Given the description of an element on the screen output the (x, y) to click on. 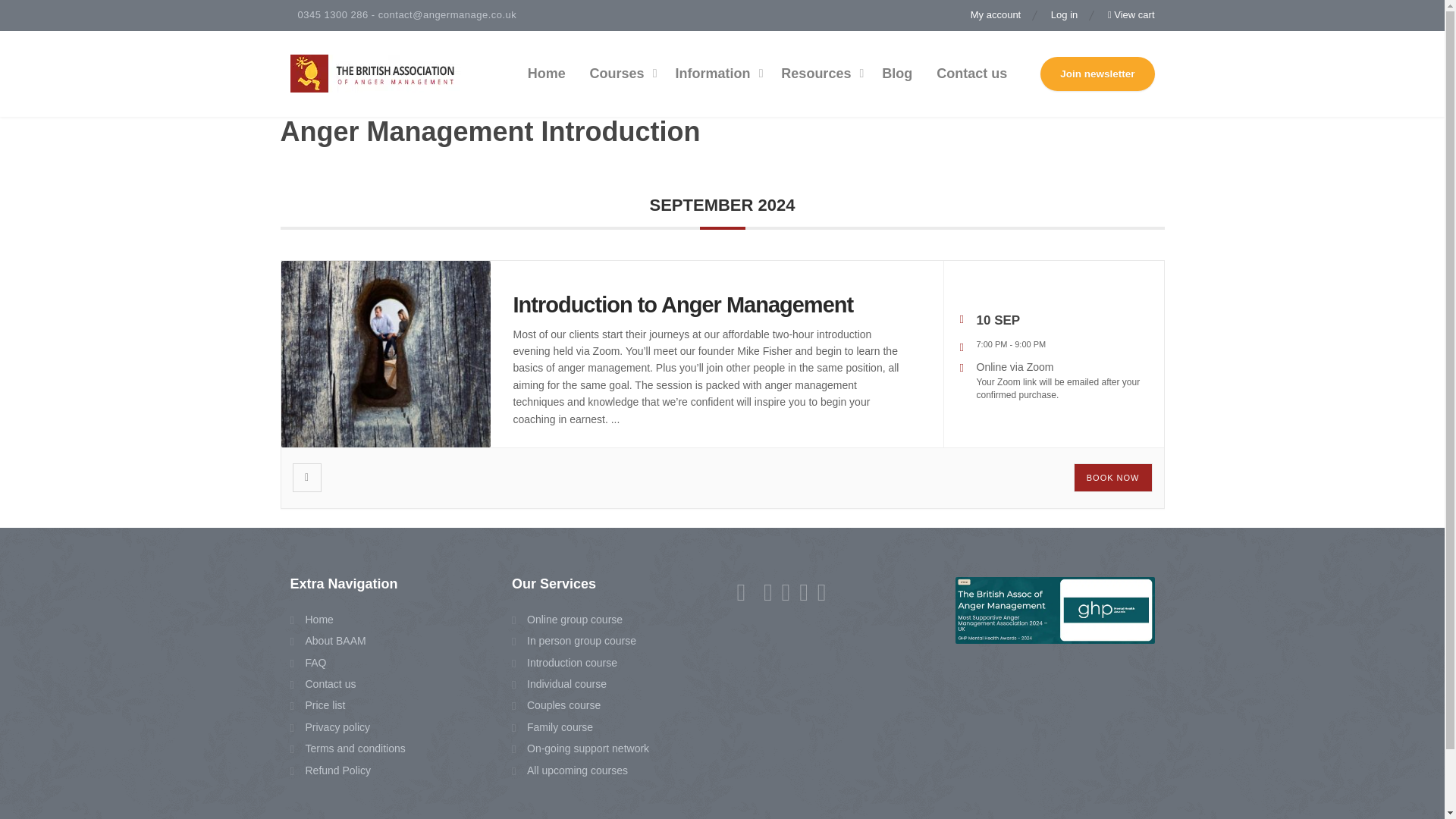
The British Association of Anger Management (374, 74)
Resources (818, 74)
My account (1003, 15)
Courses (620, 74)
Information (715, 74)
social share (306, 477)
View cart (1124, 15)
Log in (1065, 15)
